Given the description of an element on the screen output the (x, y) to click on. 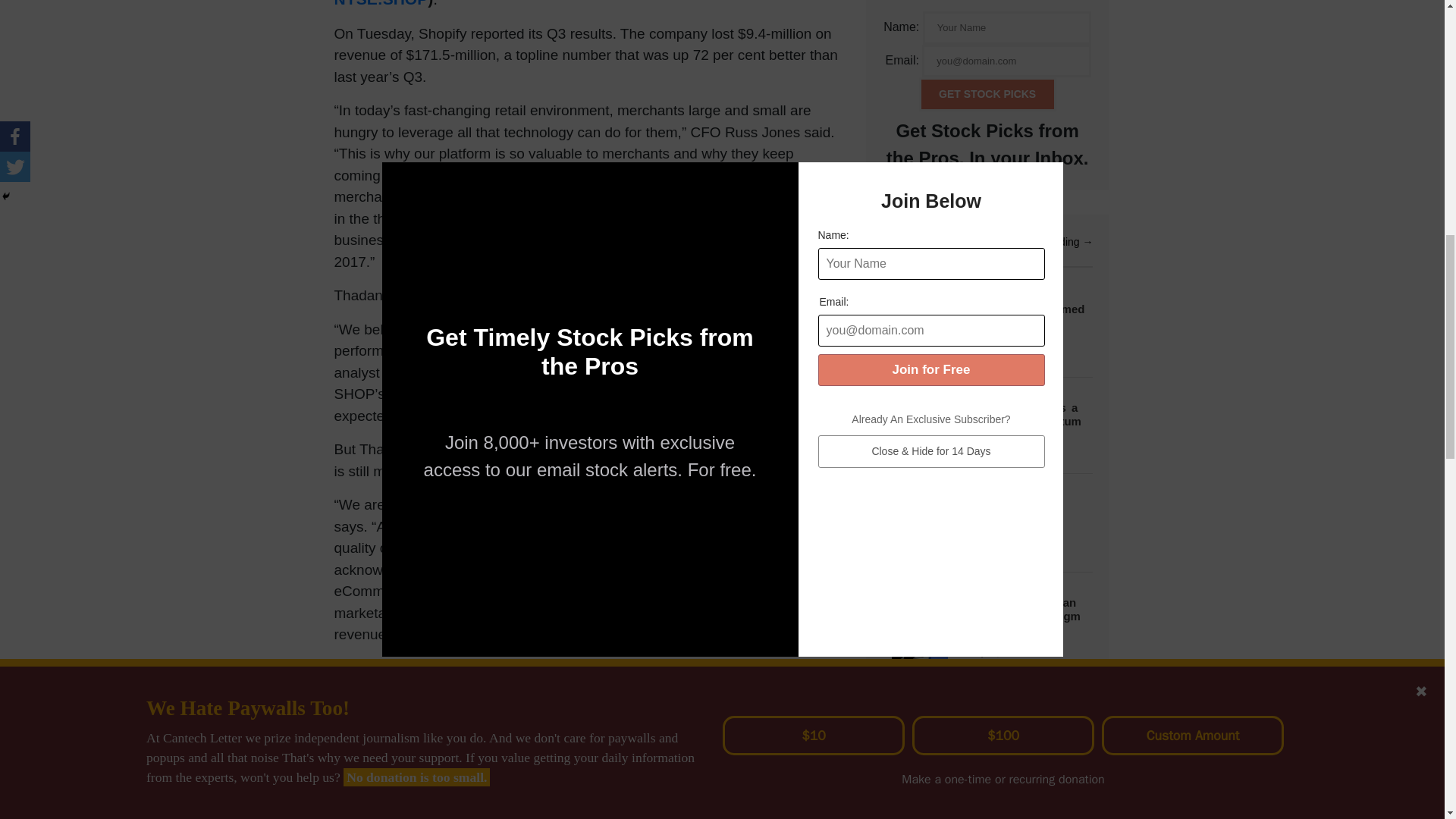
GET STOCK PICKS (987, 93)
Shopify Stock Quote, Chart, News: TSE:SHOP, NYSE:SHOP (545, 4)
